Given the description of an element on the screen output the (x, y) to click on. 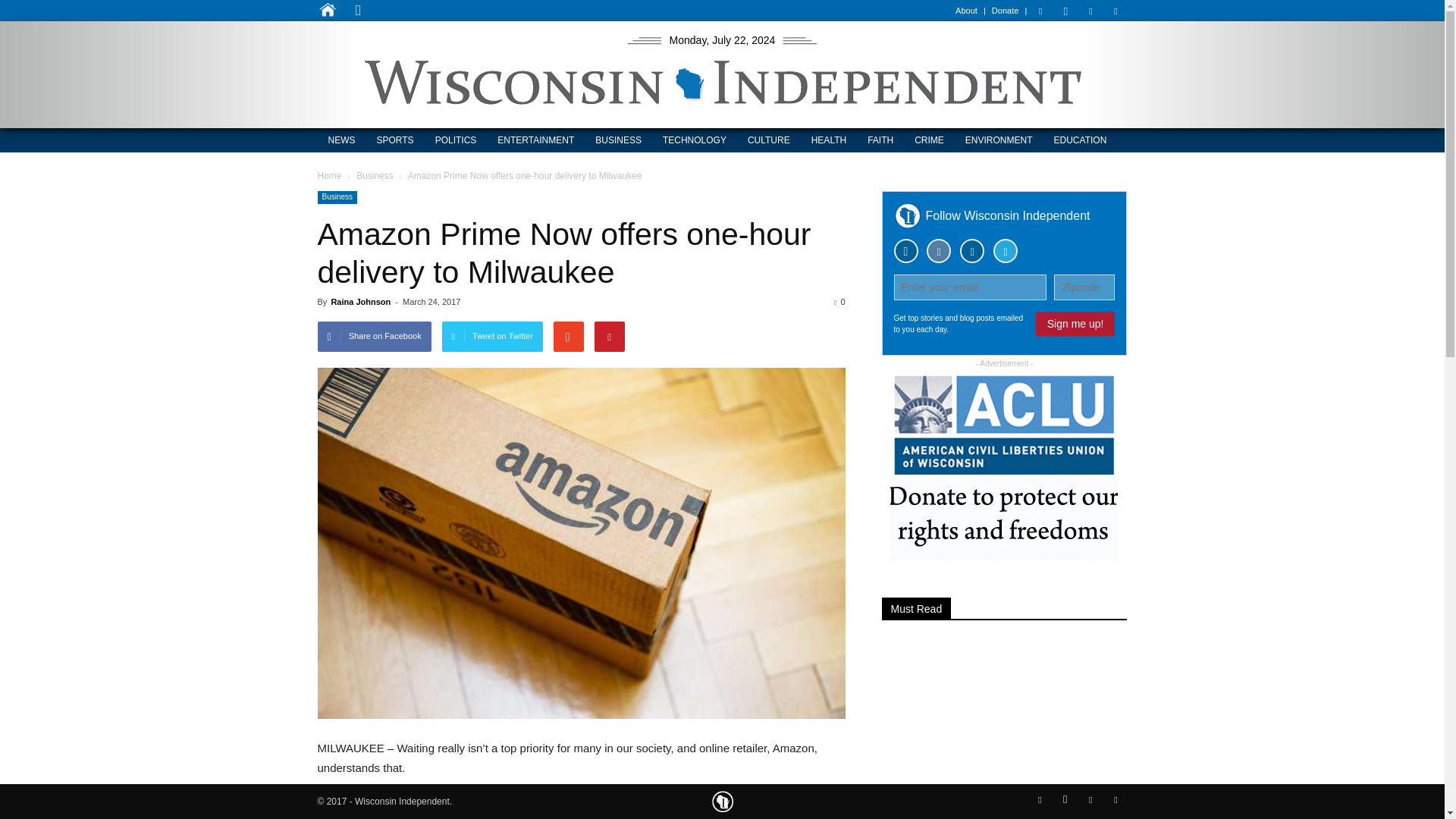
About (965, 10)
Linkedin (1090, 10)
NEWS (341, 139)
Sign me up! (1075, 323)
View all posts in Business (376, 175)
Twitter (1114, 10)
Facebook (1040, 10)
Search (533, 72)
Instagram (1065, 10)
Donate (1004, 10)
